Given the description of an element on the screen output the (x, y) to click on. 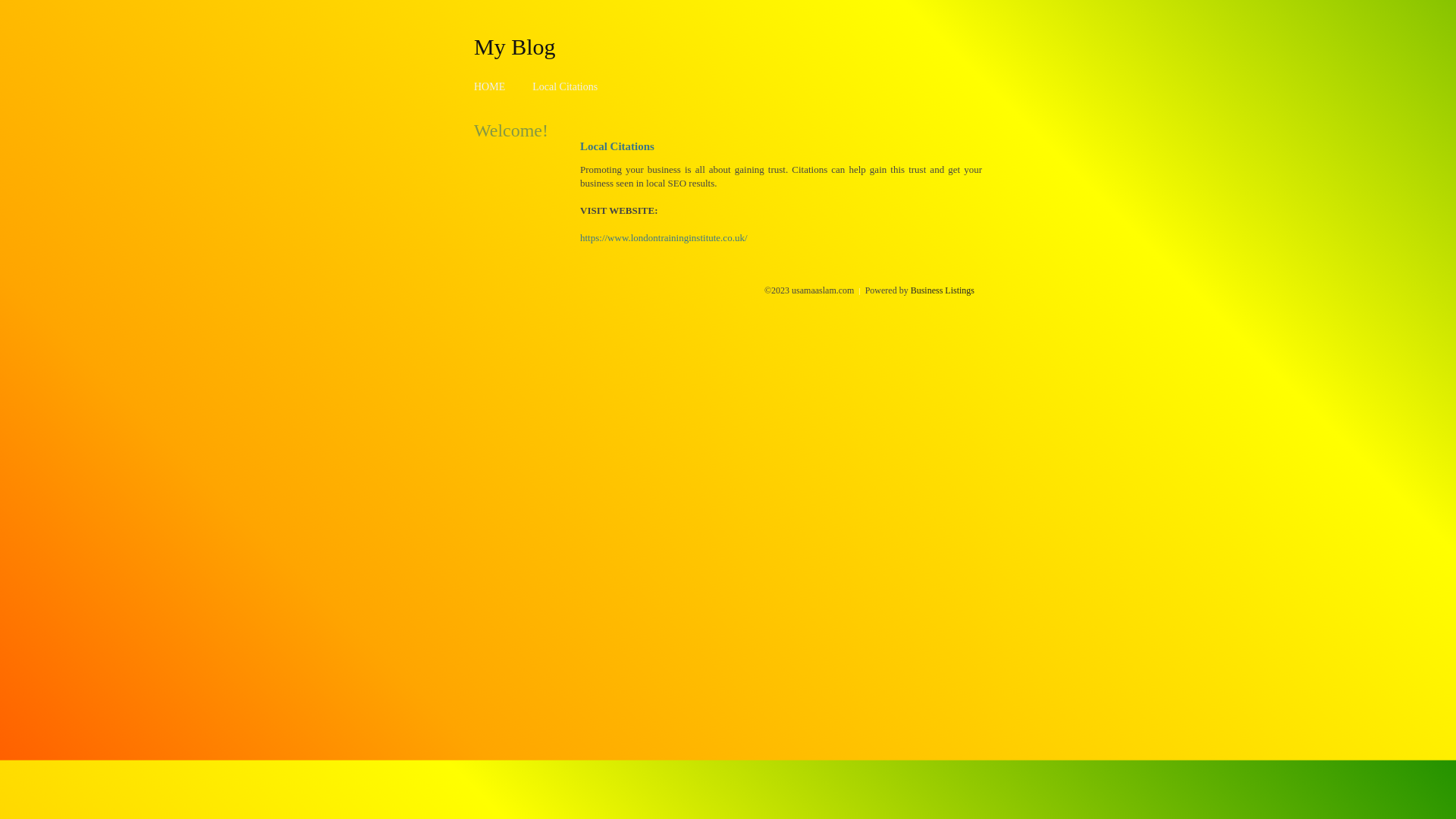
HOME Element type: text (489, 86)
My Blog Element type: text (514, 46)
Business Listings Element type: text (942, 290)
Local Citations Element type: text (564, 86)
https://www.londontraininginstitute.co.uk/ Element type: text (663, 237)
